Given the description of an element on the screen output the (x, y) to click on. 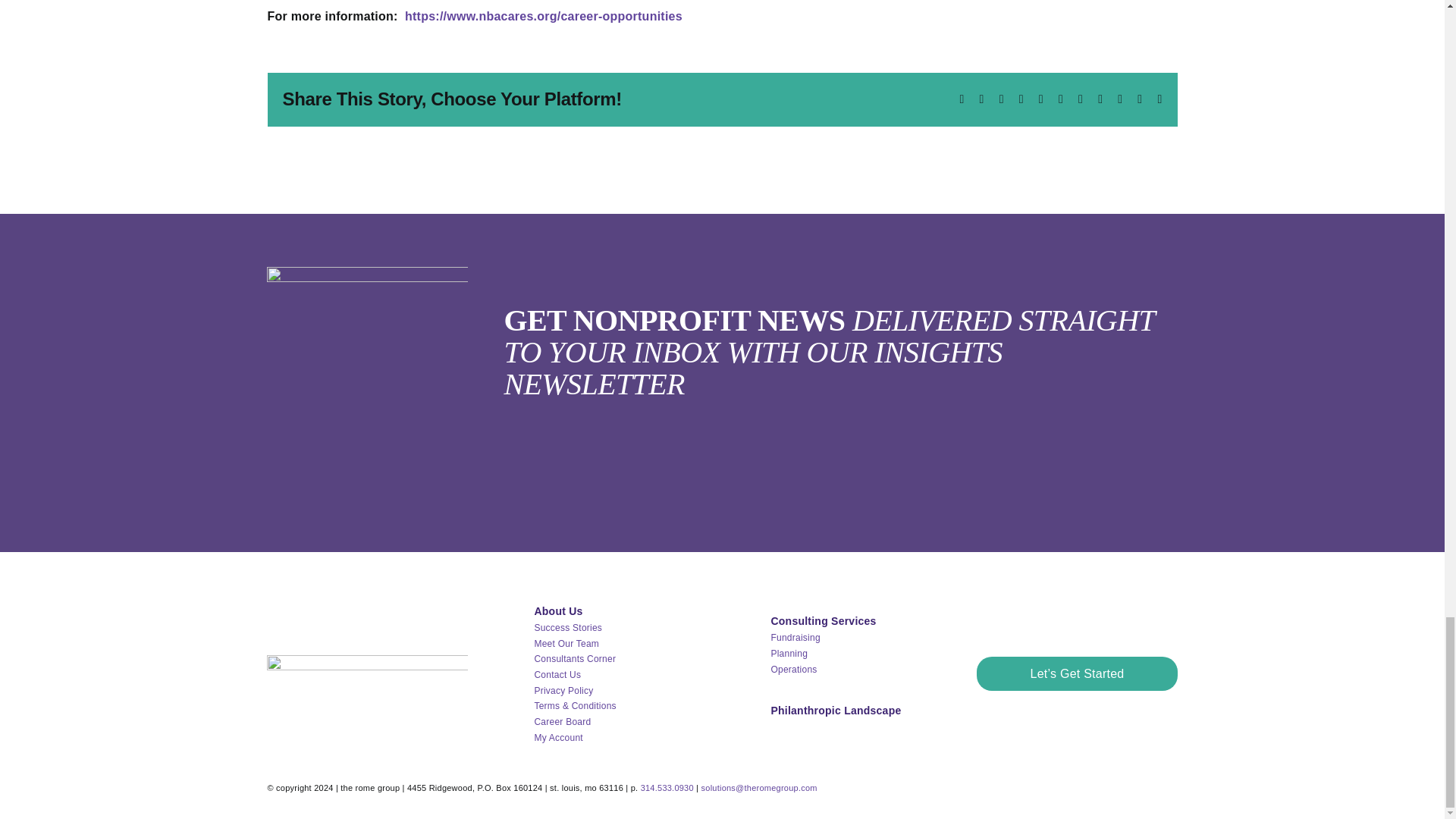
Success Stories (568, 627)
About Us (558, 611)
Privacy Policy (563, 690)
Meet Our Team (566, 643)
Contact Us (557, 674)
mainlogo (366, 673)
Consultants Corner (574, 658)
